Given the description of an element on the screen output the (x, y) to click on. 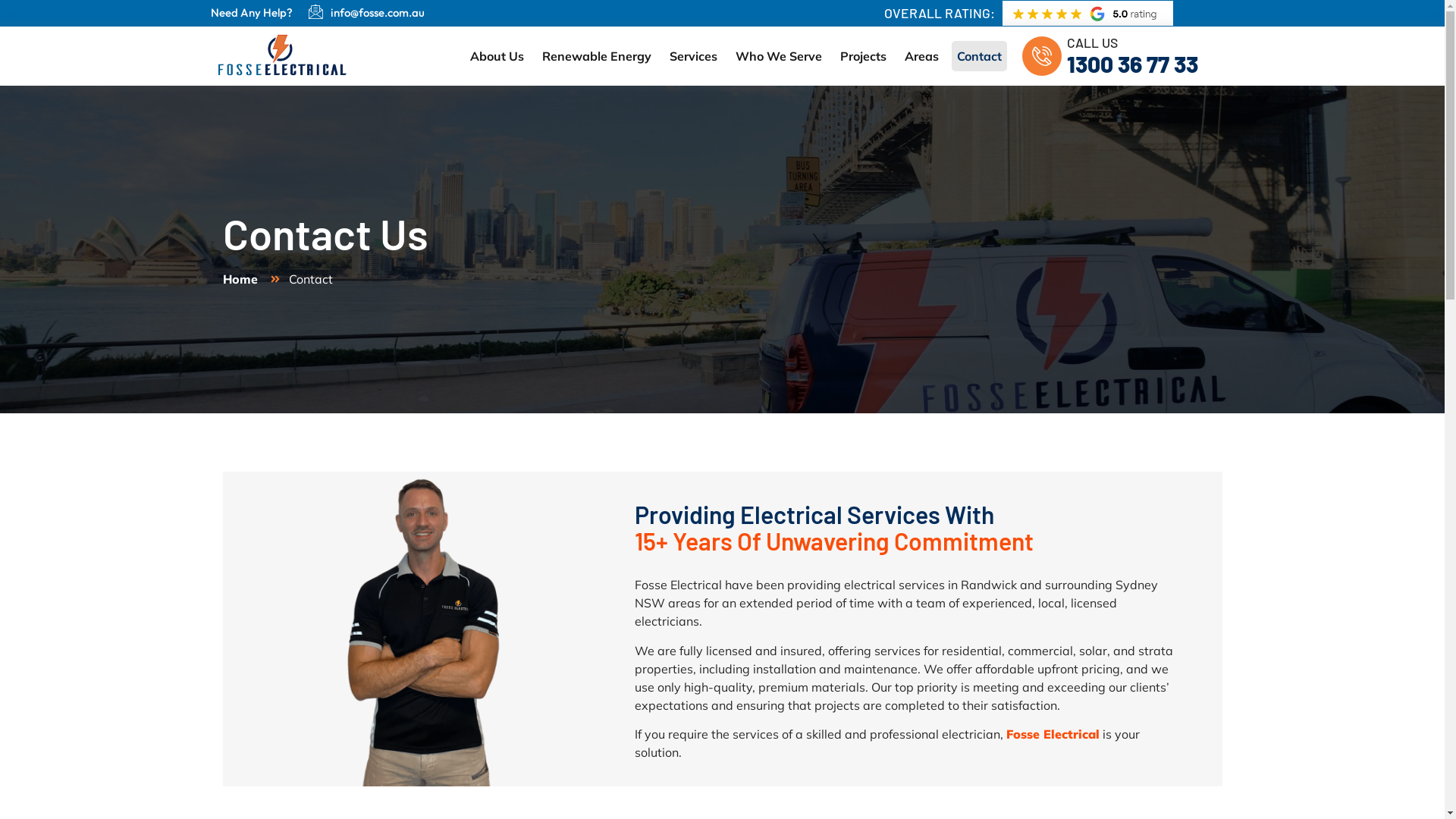
info@fosse.com.au Element type: text (377, 12)
CALL US Element type: text (1091, 42)
About Us Element type: text (496, 55)
Services Element type: text (693, 55)
Renewable Energy Element type: text (596, 55)
1300 36 77 33 Element type: text (1132, 63)
Fosse Electrical Element type: text (1052, 733)
Projects Element type: text (862, 55)
Who We Serve Element type: text (778, 55)
Contact 1 Element type: hover (422, 629)
Areas Element type: text (921, 55)
Home Element type: text (239, 278)
Contact Element type: text (979, 55)
